Given the description of an element on the screen output the (x, y) to click on. 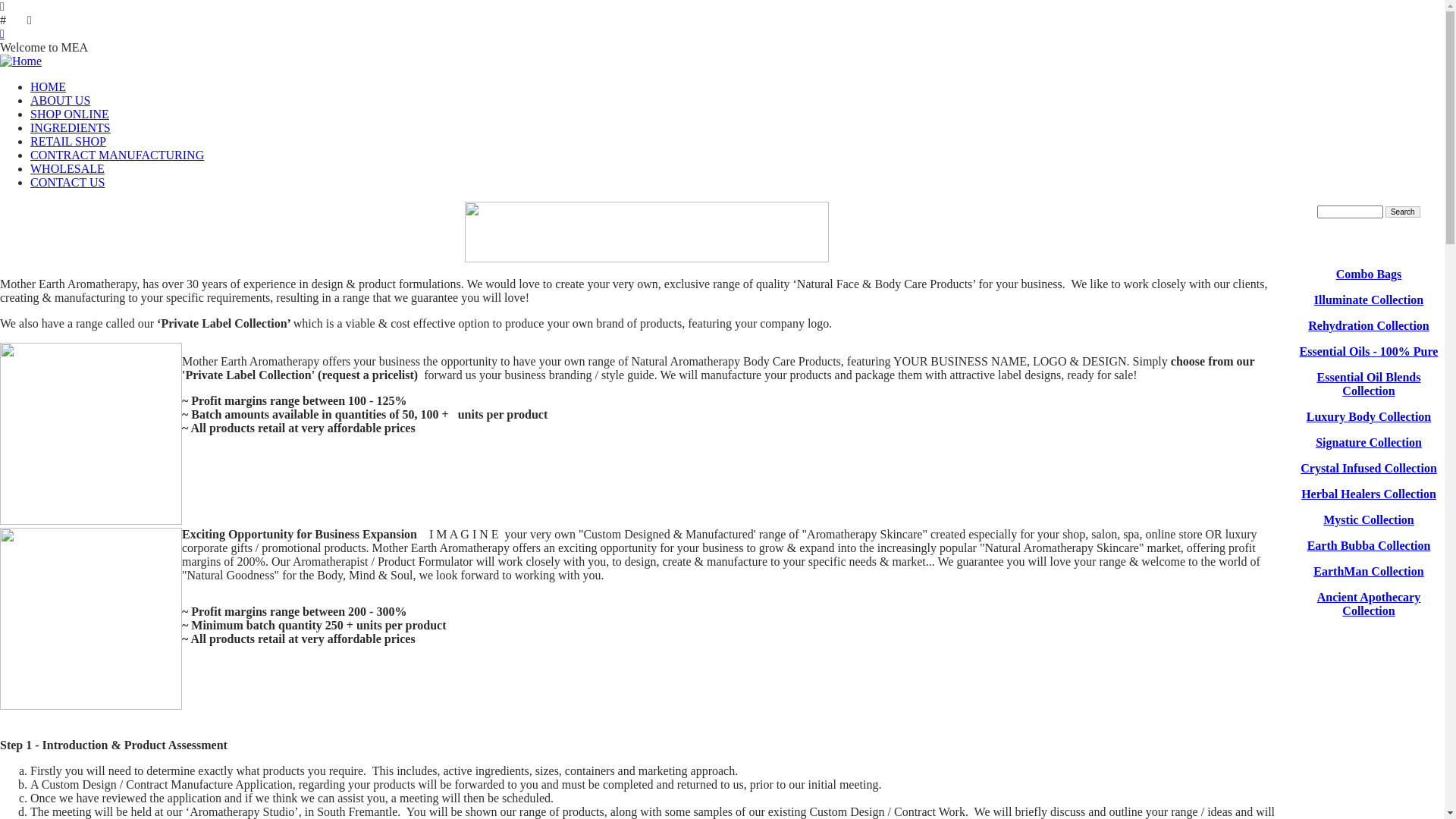
Search Element type: text (1402, 211)
Combo Bags Element type: text (1369, 273)
HOME Element type: text (47, 86)
Rehydration Collection Element type: text (1368, 325)
Crystal Infused Collection Element type: text (1368, 467)
Essential Oils - 100% Pure Element type: text (1368, 351)
Signature Collection Element type: text (1368, 442)
RETAIL SHOP Element type: text (68, 140)
Ancient Apothecary Collection Element type: text (1368, 603)
Herbal Healers Collection Element type: text (1368, 493)
Essential Oil Blends Collection Element type: text (1369, 383)
Illuminate Collection Element type: text (1368, 299)
Earth Bubba Collection Element type: text (1368, 545)
EarthMan Collection Element type: text (1368, 570)
Mystic Collection Element type: text (1368, 519)
WHOLESALE Element type: text (67, 168)
SHOP ONLINE Element type: text (69, 113)
CONTACT US Element type: text (67, 181)
CONTRACT MANUFACTURING Element type: text (116, 154)
# Element type: text (722, 20)
ABOUT US Element type: text (60, 100)
Welcome to MEA Element type: text (722, 47)
INGREDIENTS Element type: text (70, 127)
Luxury Body Collection Element type: text (1368, 416)
